Given the description of an element on the screen output the (x, y) to click on. 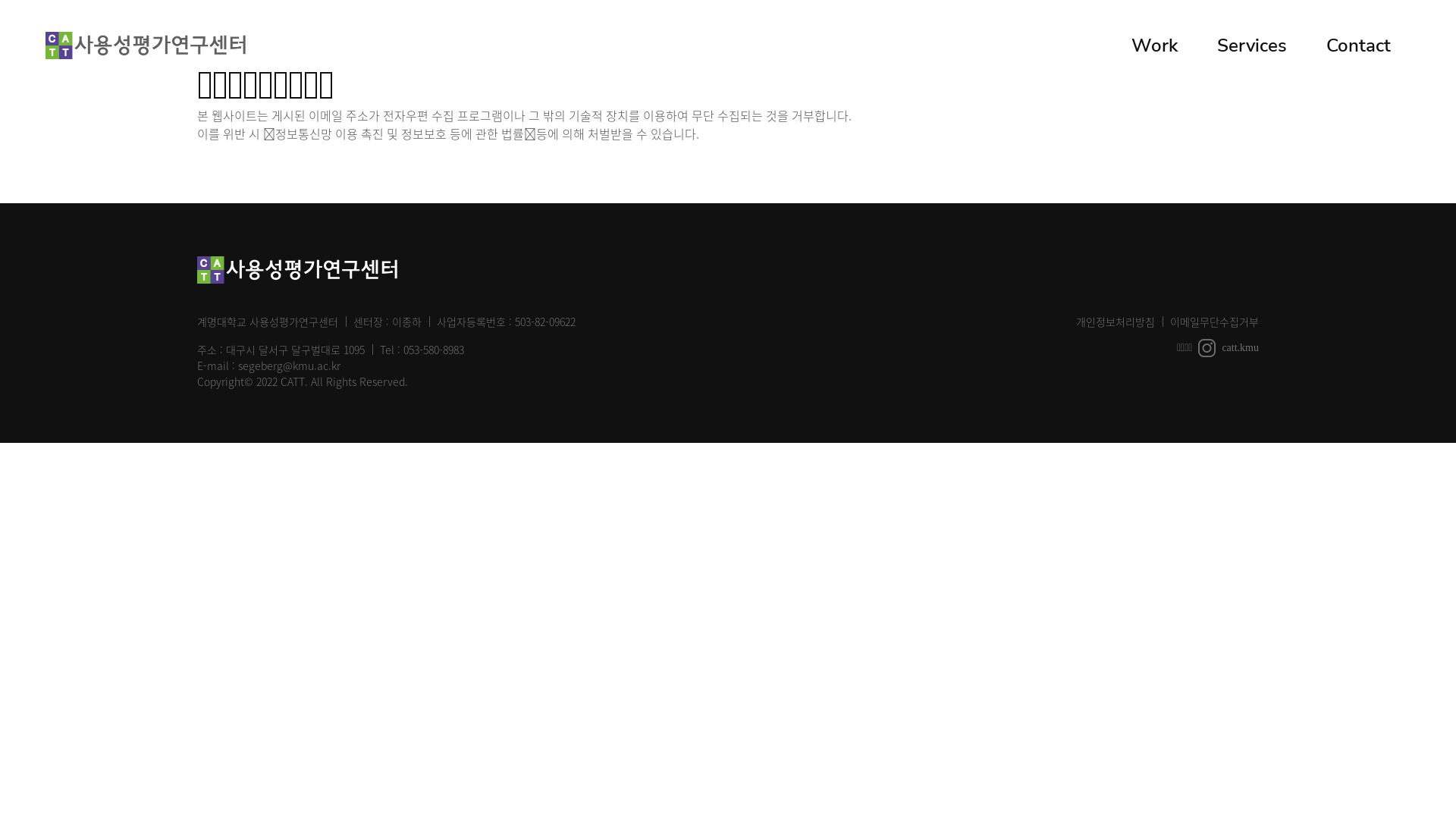
Services Element type: text (1251, 45)
Work Element type: text (1154, 45)
Contact Element type: text (1358, 45)
